Given the description of an element on the screen output the (x, y) to click on. 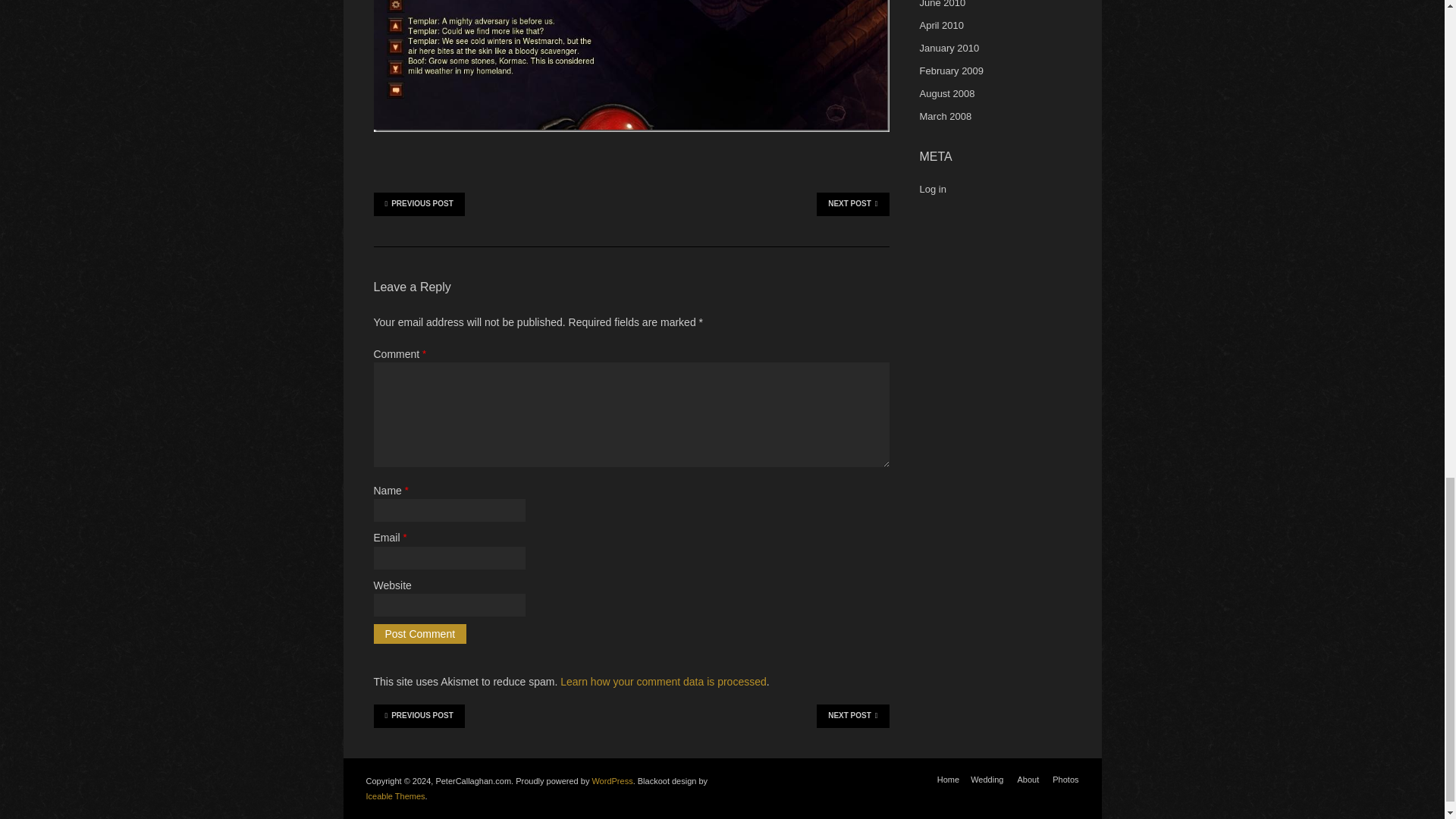
Free and Premium WordPress Themes (395, 795)
Semantic Personal Publishing Platform (611, 780)
NEXT POST (852, 203)
Learn how your comment data is processed (663, 681)
Post Comment (418, 633)
PREVIOUS POST (418, 203)
Post Comment (418, 633)
NEXT POST (852, 715)
PREVIOUS POST (418, 715)
